Given the description of an element on the screen output the (x, y) to click on. 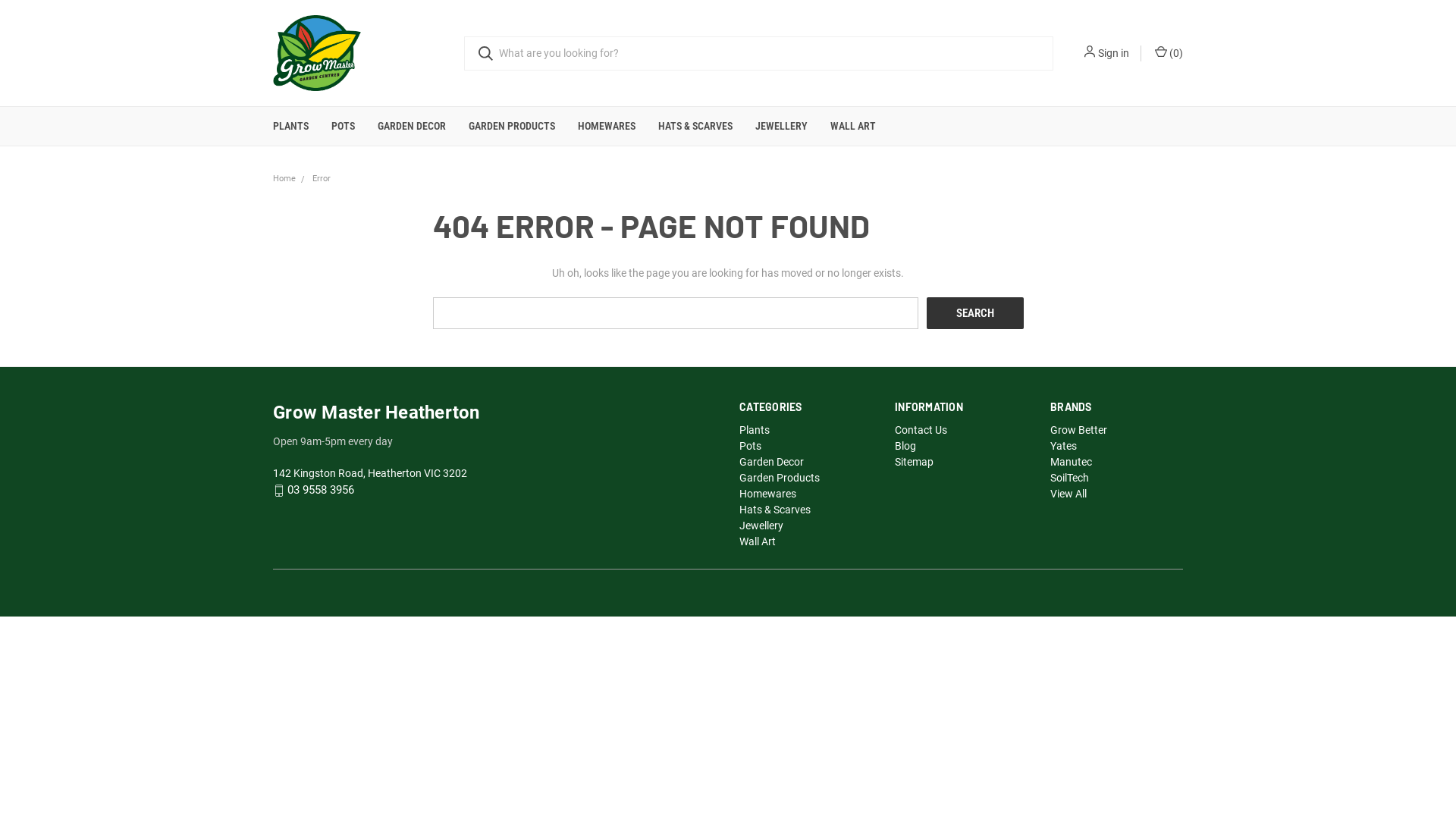
Sitemap Element type: text (913, 461)
HATS & SCARVES Element type: text (694, 125)
GARDEN PRODUCTS Element type: text (511, 125)
Manutec Element type: text (1071, 461)
Search Element type: text (974, 313)
JEWELLERY Element type: text (781, 125)
WALL ART Element type: text (853, 125)
Pots Element type: text (750, 445)
Blog Element type: text (905, 445)
Homewares Element type: text (767, 493)
Grow Better Element type: text (1078, 429)
View All Element type: text (1068, 493)
03 9558 3956 Element type: text (320, 490)
Plants Element type: text (754, 429)
142 Kingston Road, Heatherton VIC 3202 Element type: text (370, 473)
(0) Element type: text (1167, 53)
Wall Art Element type: text (757, 541)
Grow Master Heatherton Element type: hover (316, 53)
Garden Products Element type: text (779, 477)
HOMEWARES Element type: text (606, 125)
Jewellery Element type: text (761, 525)
POTS Element type: text (343, 125)
PLANTS Element type: text (290, 125)
Contact Us Element type: text (920, 429)
GARDEN DECOR Element type: text (411, 125)
Sign in Element type: text (1113, 53)
Hats & Scarves Element type: text (774, 509)
Yates Element type: text (1063, 445)
SoilTech Element type: text (1069, 477)
Home Element type: text (284, 178)
Garden Decor Element type: text (771, 461)
